Given the description of an element on the screen output the (x, y) to click on. 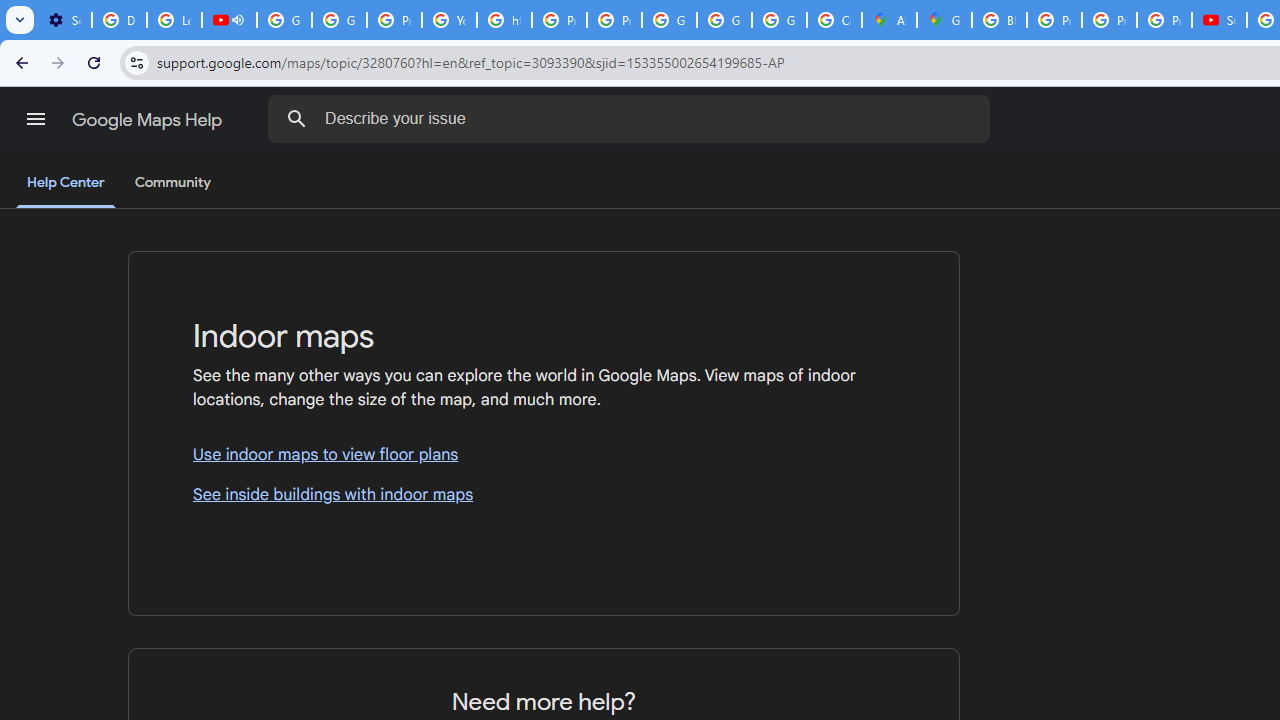
Google Account Help (284, 20)
Google Account Help (339, 20)
https://scholar.google.com/ (504, 20)
Privacy Help Center - Policies Help (1108, 20)
Use indoor maps to view floor plans (543, 456)
Google Maps (943, 20)
Privacy Help Center - Policies Help (1053, 20)
Google Maps Help (148, 119)
Subscriptions - YouTube (1218, 20)
